Given the description of an element on the screen output the (x, y) to click on. 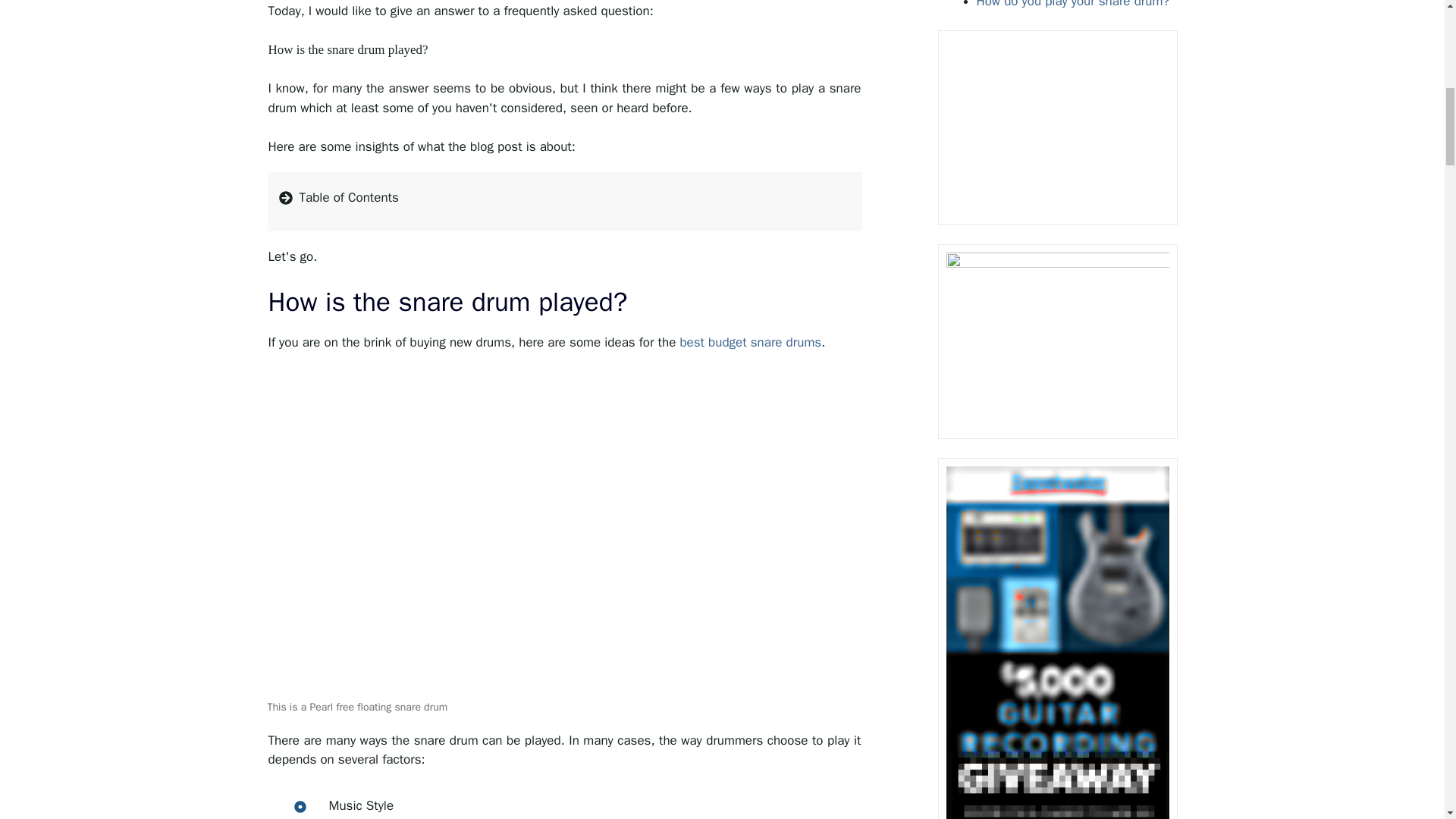
Table of Contents (563, 200)
How do you play your snare drum? (1073, 4)
faster-than-ever-300x250-1 (1057, 131)
best budget snare drums (750, 342)
